Given the description of an element on the screen output the (x, y) to click on. 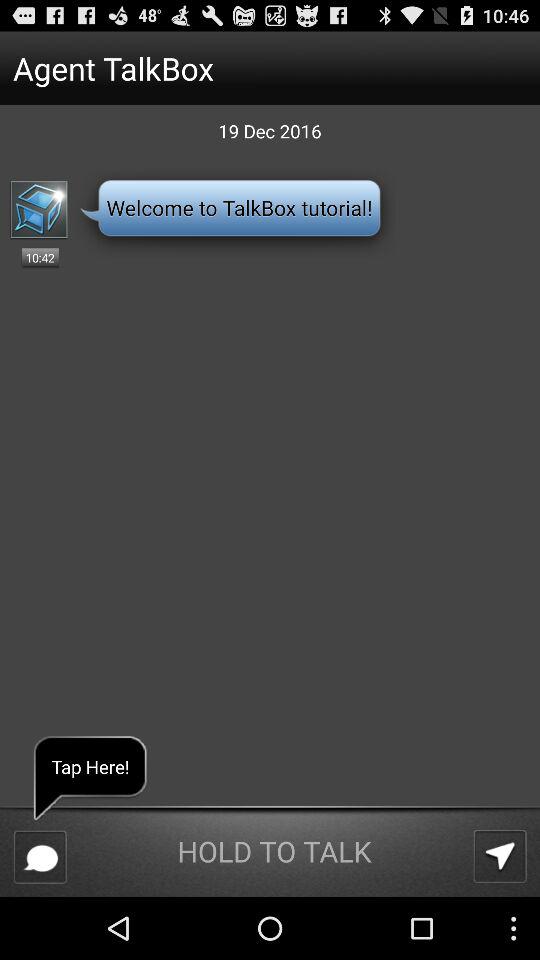
select the item next to hold to talk app (499, 856)
